Given the description of an element on the screen output the (x, y) to click on. 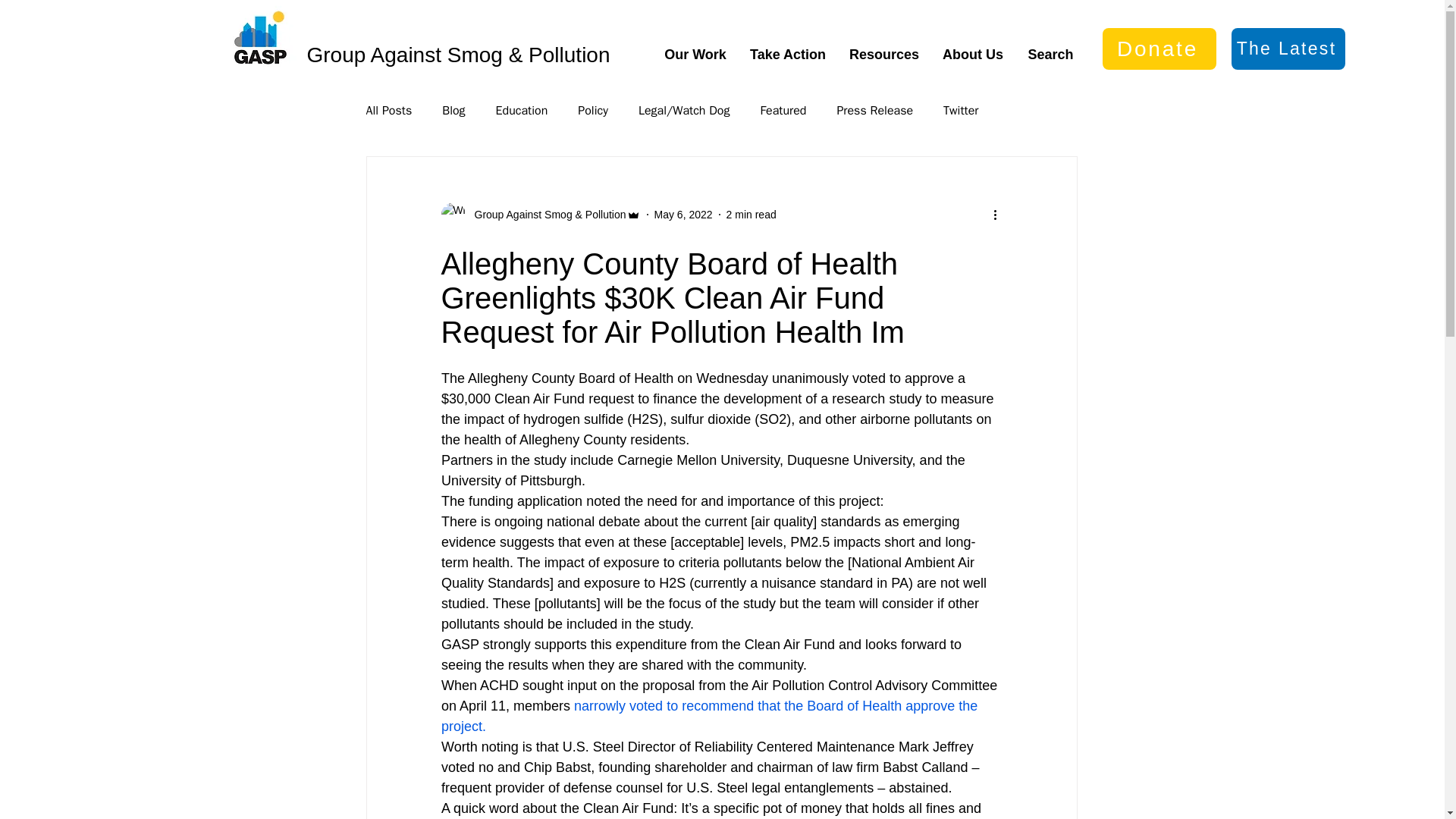
About Us (972, 54)
Policy (593, 110)
All Posts (388, 110)
The Latest (1288, 48)
Twitter (960, 110)
2 min read (751, 214)
May 6, 2022 (683, 214)
Donate (1158, 48)
Education (522, 110)
Press Release (873, 110)
Featured (783, 110)
Resources (883, 54)
Take Action (788, 54)
Search (1050, 54)
Blog (453, 110)
